Given the description of an element on the screen output the (x, y) to click on. 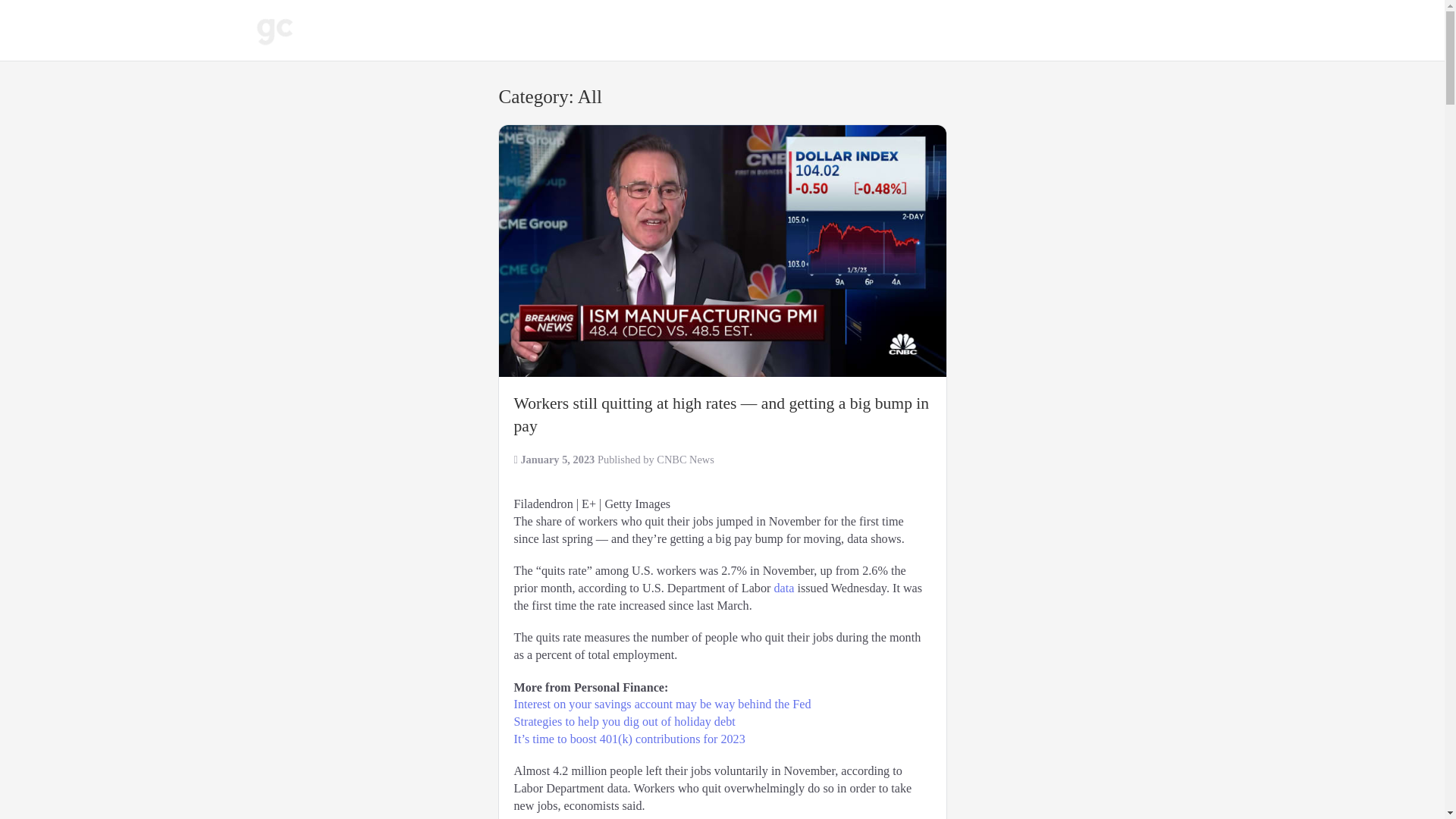
Ai Powered (568, 30)
Weather (483, 30)
CNBC News (685, 459)
Interest on your savings account may be way behind the Fed (661, 704)
January 5, 2023 (557, 459)
data (783, 588)
Strategies to help you dig out of holiday debt (624, 721)
News (410, 30)
Home (344, 30)
Flights (649, 30)
